Given the description of an element on the screen output the (x, y) to click on. 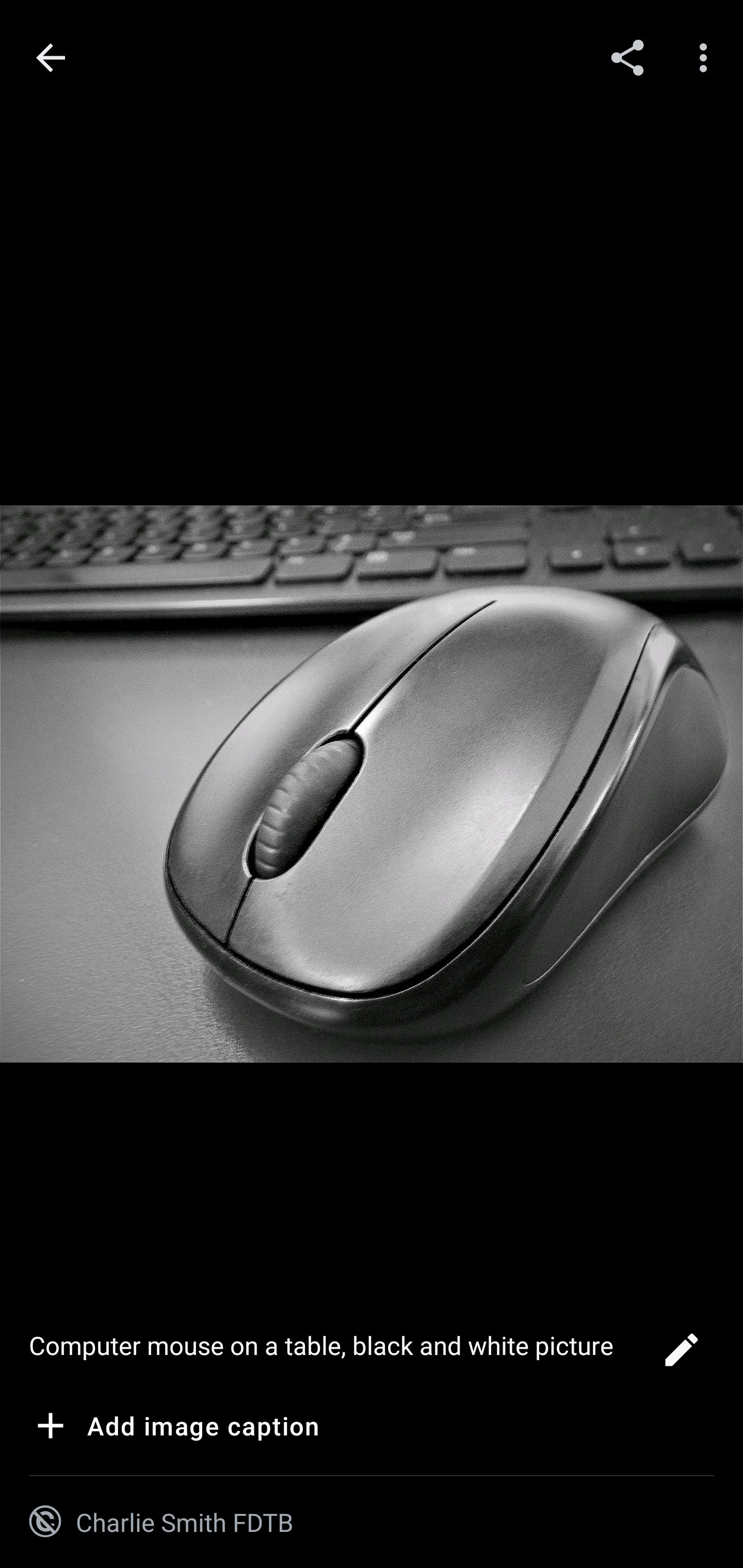
Navigate up (50, 57)
Share (626, 57)
More options (706, 57)
Edit image caption (681, 1355)
Add image caption (174, 1428)
Public domain (44, 1521)
